Given the description of an element on the screen output the (x, y) to click on. 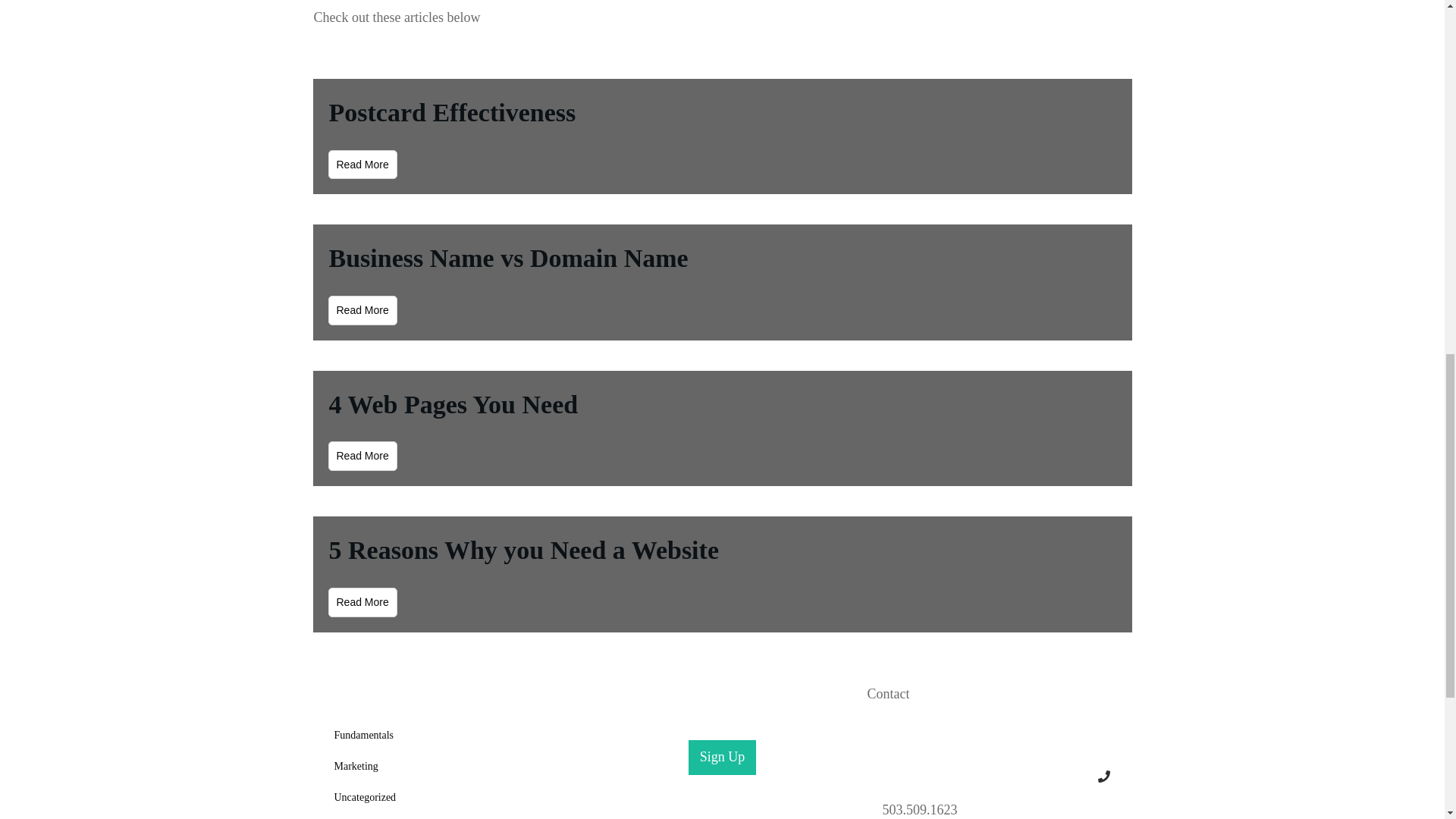
Read More (361, 602)
Business Name vs Domain Name (508, 257)
Read More (361, 310)
5 Reasons Why you Need a Website (524, 550)
Marketing (355, 765)
4 Web Pages You Need (453, 404)
Postcard Effectiveness (452, 112)
Sign Up (722, 757)
4 Web Pages You Need (453, 404)
5 Reasons Why you Need a Website (524, 550)
